Given the description of an element on the screen output the (x, y) to click on. 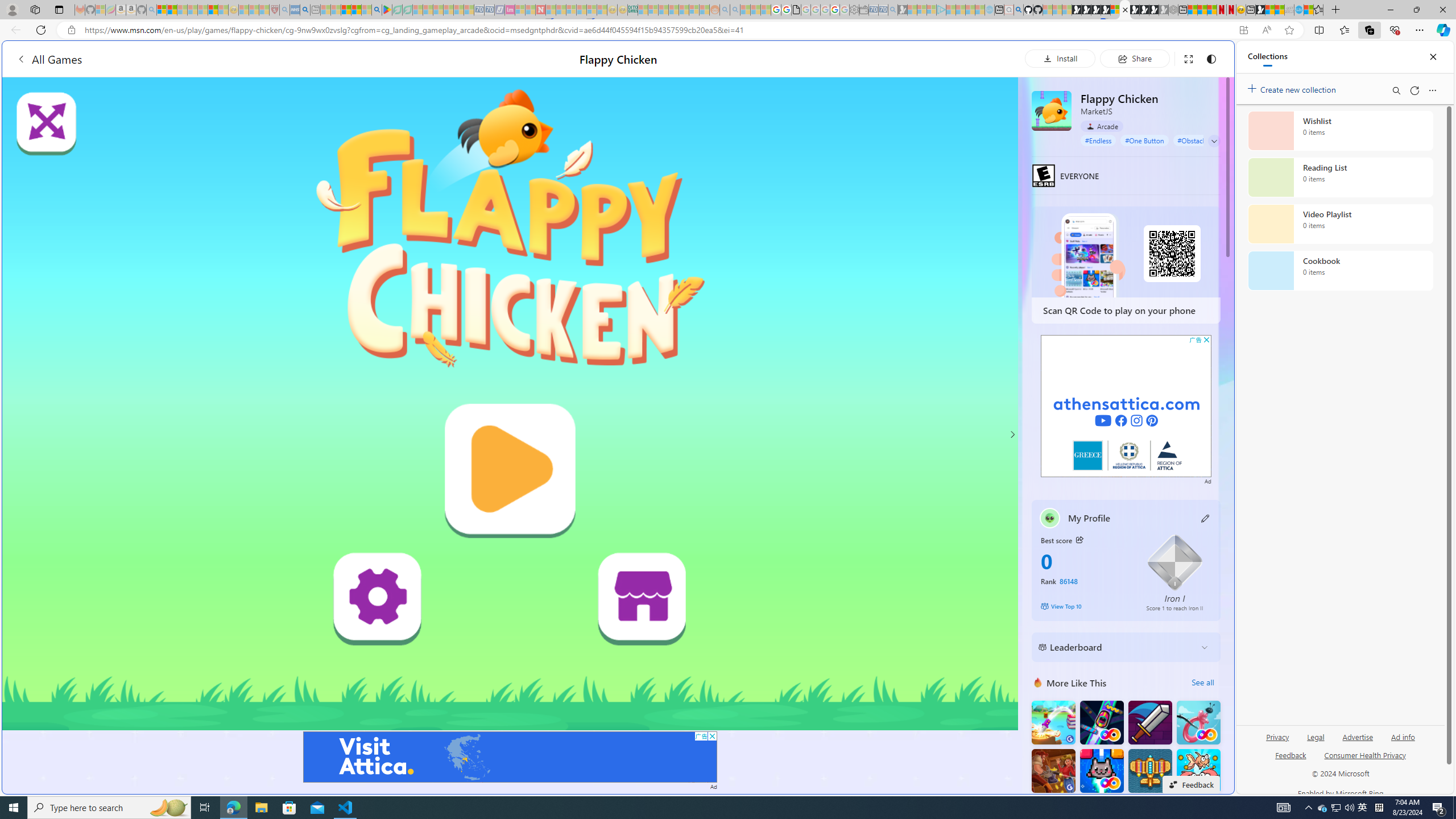
#Obstacle Course (1203, 140)
Share (1134, 58)
More options menu (1432, 90)
